Given the description of an element on the screen output the (x, y) to click on. 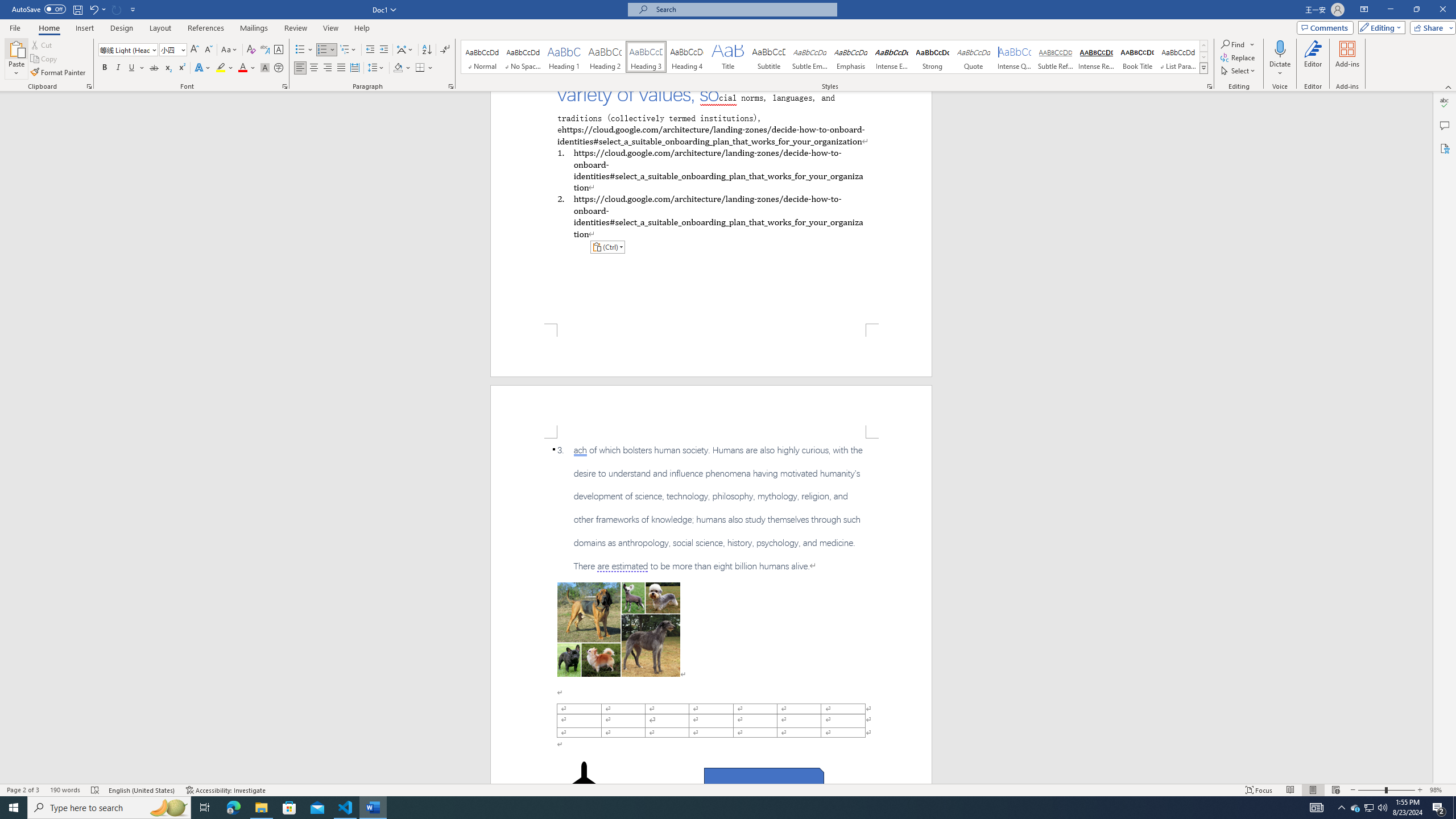
Font Color Blue-Gray, Text 2 (241, 67)
Rectangle: Diagonal Corners Snipped 2 (764, 781)
Decrease Indent (370, 49)
Italic (118, 67)
Can't Repeat (117, 9)
Undo Paste (96, 9)
Grow Font (193, 49)
3. (710, 507)
